Given the description of an element on the screen output the (x, y) to click on. 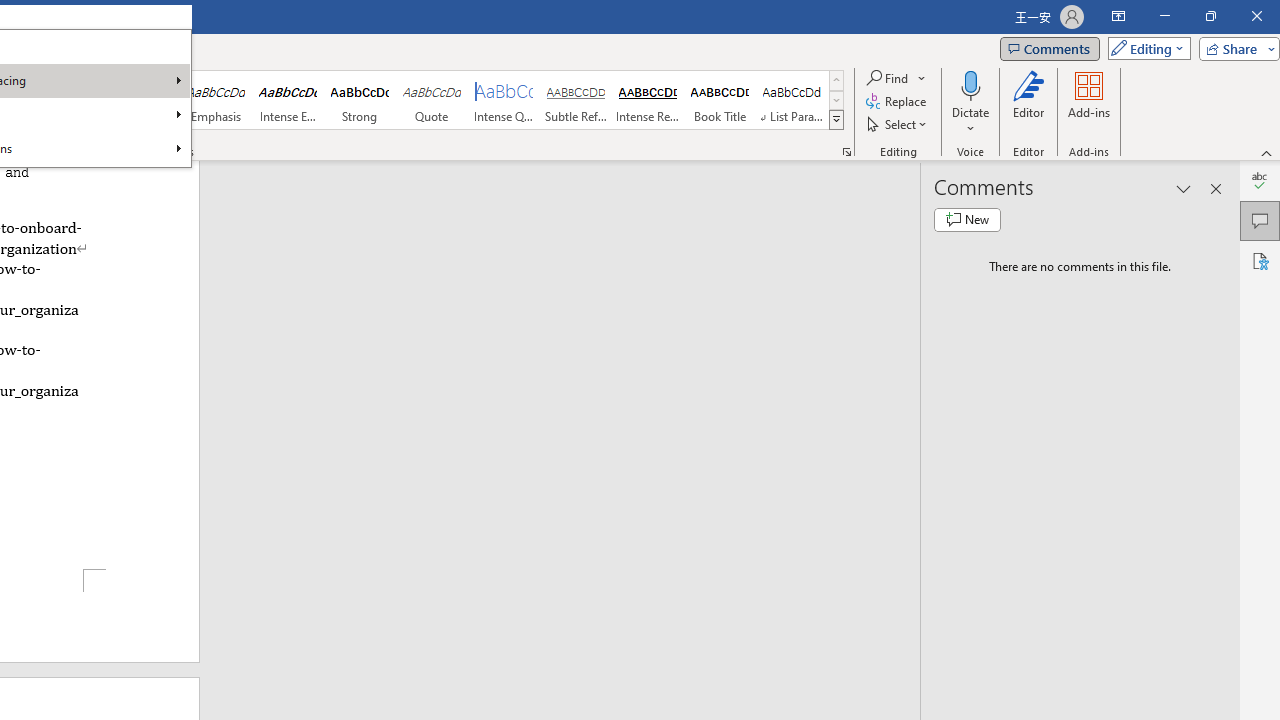
Accessibility (1260, 260)
Minimize (1164, 16)
Editor (1260, 180)
Restore Down (1210, 16)
Class: NetUIImage (836, 119)
Subtitle (71, 100)
New comment (967, 219)
Editing (1144, 47)
Task Pane Options (1183, 188)
Subtle Emphasis (143, 100)
